Given the description of an element on the screen output the (x, y) to click on. 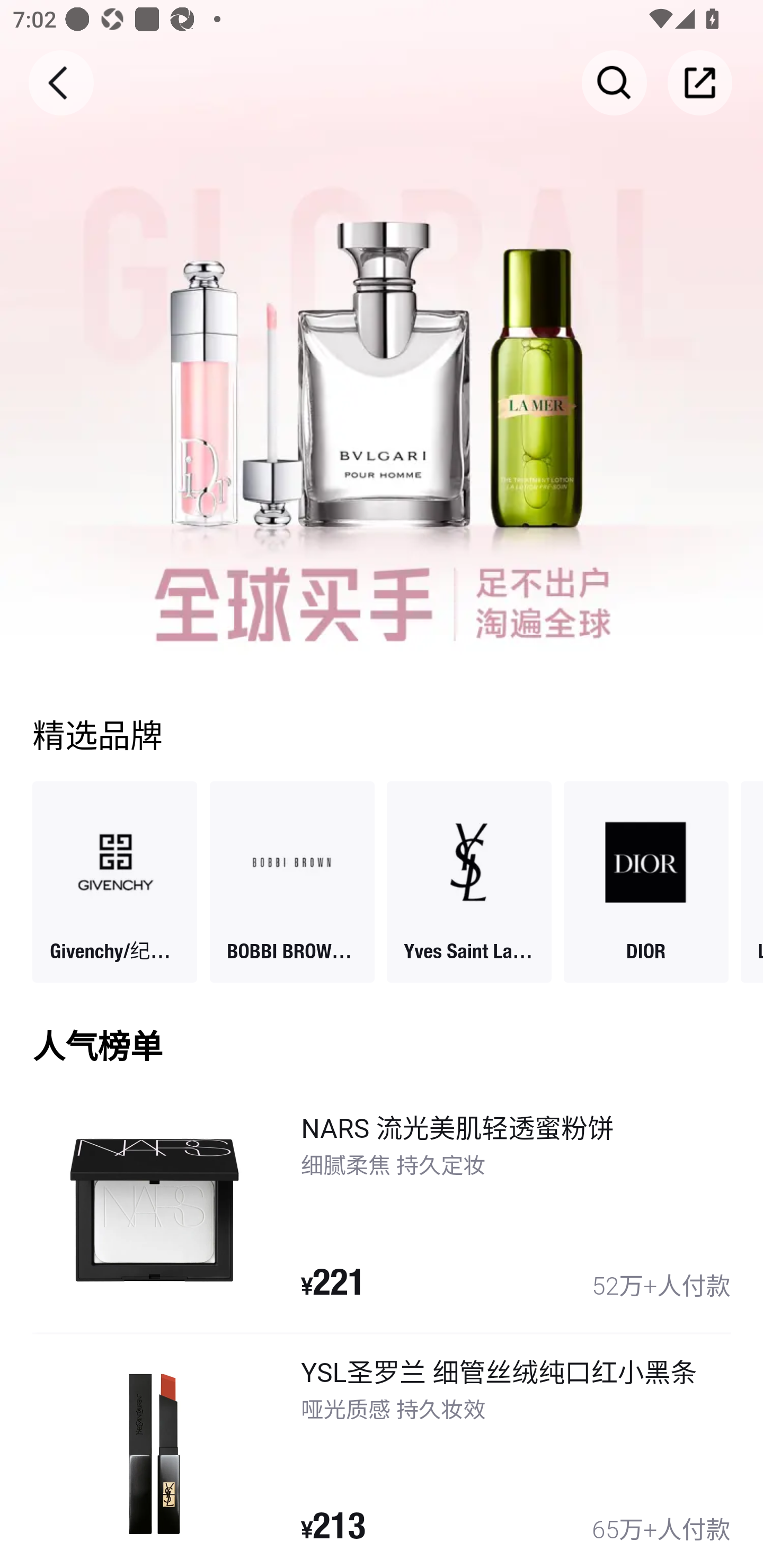
resize,w_156,h_156 Givenchy/纪梵希 (115, 881)
resize,w_156,h_156 BOBBI BROWN/芭比波朗 (291, 881)
resize,w_156,h_156 Yves Saint Laurent/圣罗兰 (468, 881)
resize,w_156,h_156 DIOR (646, 881)
resize,w_750 NARS 流光美肌轻透蜜粉饼 细腻柔焦 持久定妆 ¥221 52万+人付款 (381, 1209)
